Given the description of an element on the screen output the (x, y) to click on. 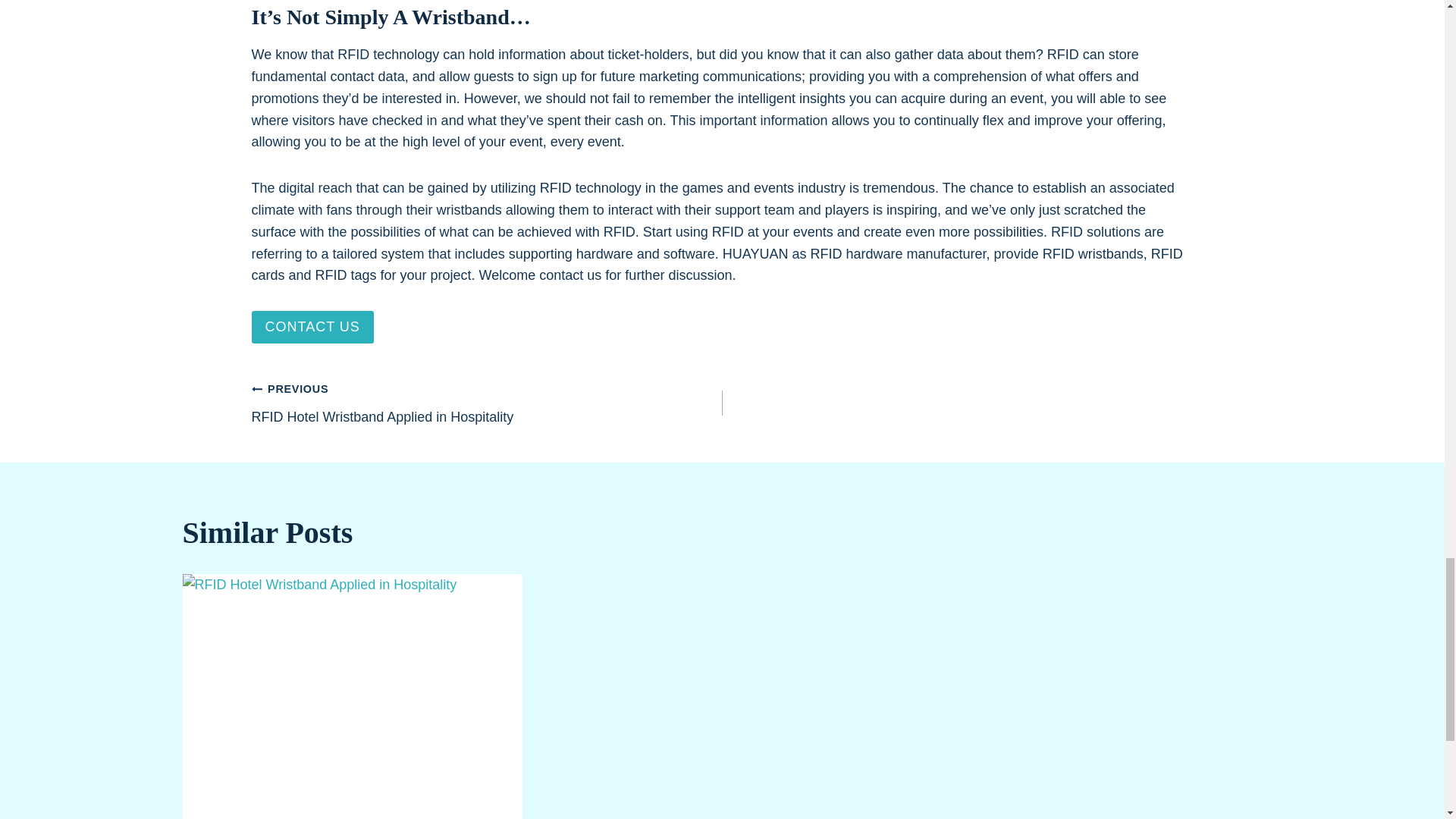
CONTACT US (486, 402)
